Given the description of an element on the screen output the (x, y) to click on. 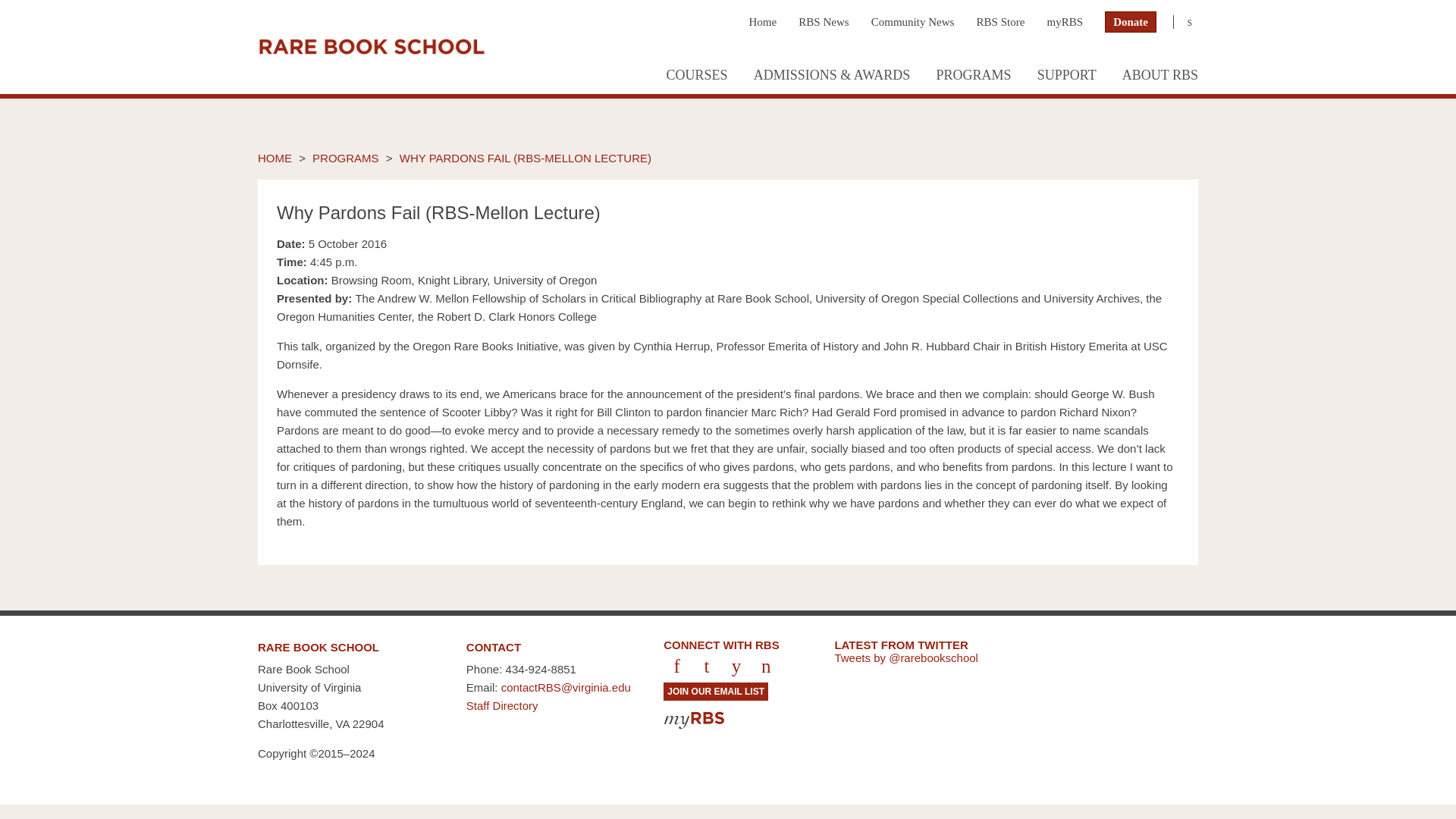
Go to Programs. (345, 157)
Rare Book School (370, 46)
SUPPORT (1067, 77)
myRBS (1064, 21)
RBS News (822, 21)
ABOUT RBS (1154, 77)
COURSES (695, 77)
Home (762, 21)
Go to Rare Book School. (274, 157)
RBS Store (1000, 21)
Donate (1130, 21)
Community News (912, 21)
PROGRAMS (973, 77)
